Given the description of an element on the screen output the (x, y) to click on. 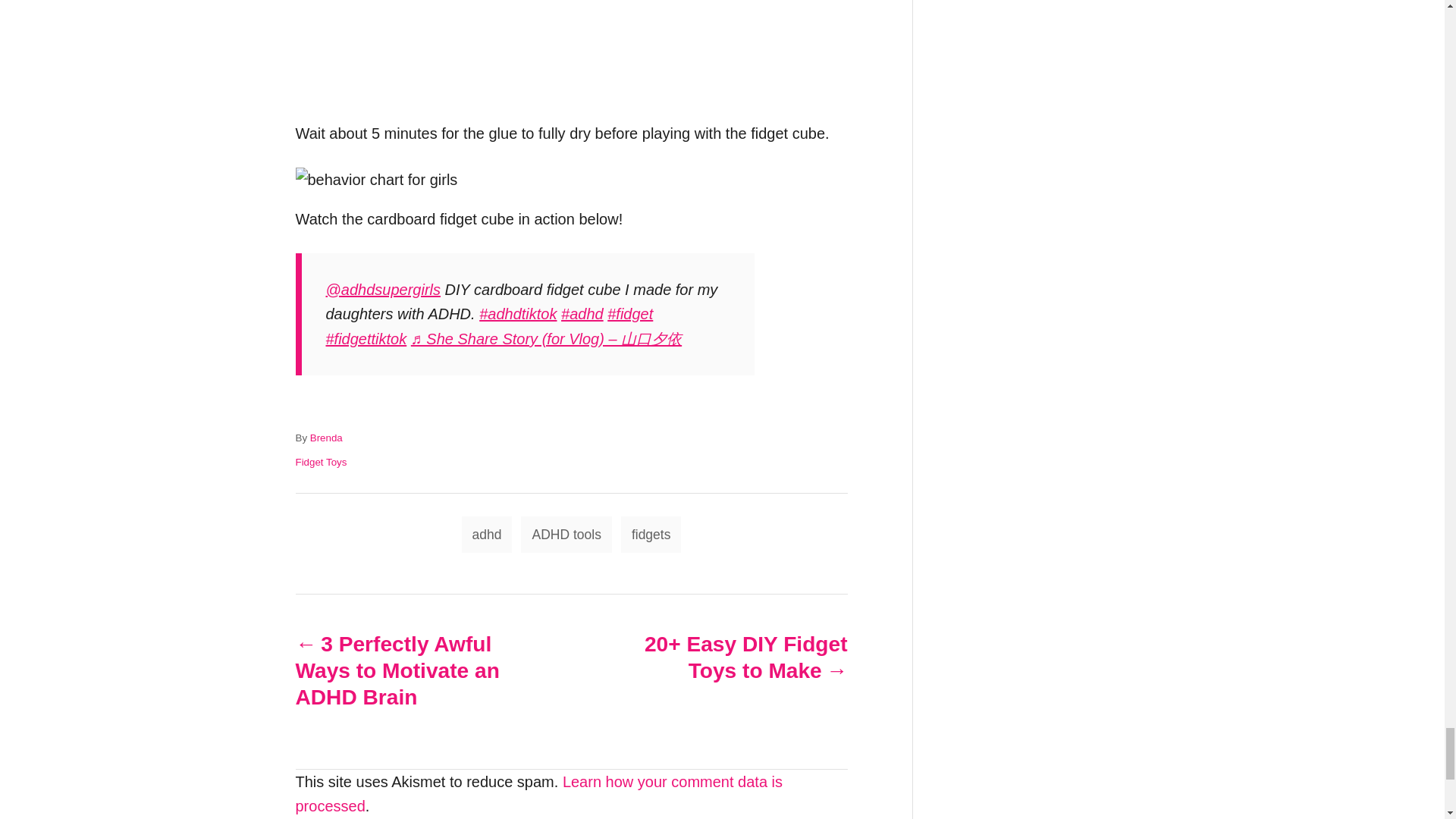
adhd (582, 313)
How to Make a Fidget Cube Out of Cardboard (376, 179)
adhdtiktok (517, 313)
Brenda (326, 437)
Fidget Toys (321, 461)
How to Make a Fidget Cube Out of Cardboard (571, 60)
ADHD tools (566, 534)
adhd (486, 534)
